Given the description of an element on the screen output the (x, y) to click on. 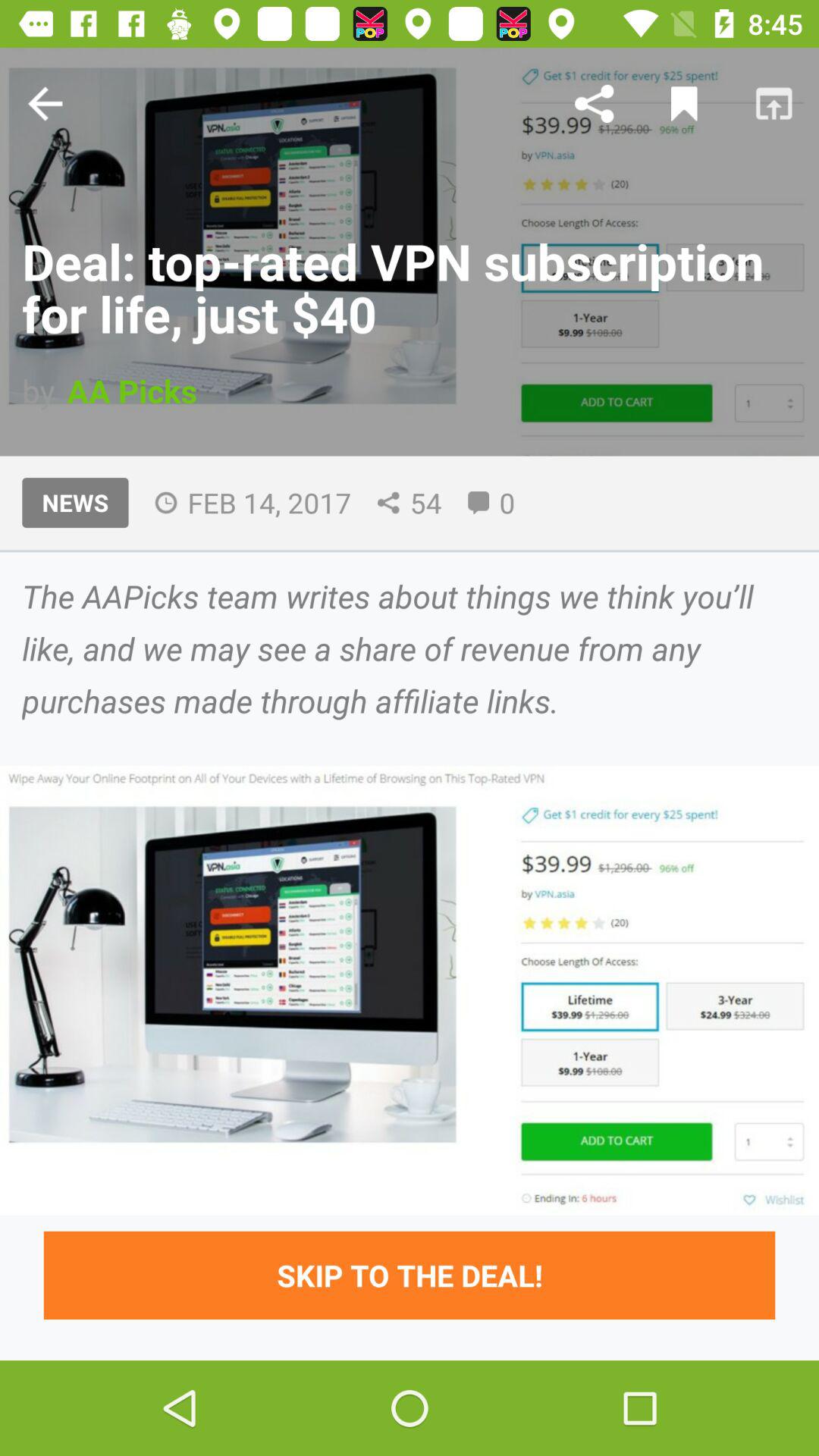
press the aapicks team icon (409, 648)
